Given the description of an element on the screen output the (x, y) to click on. 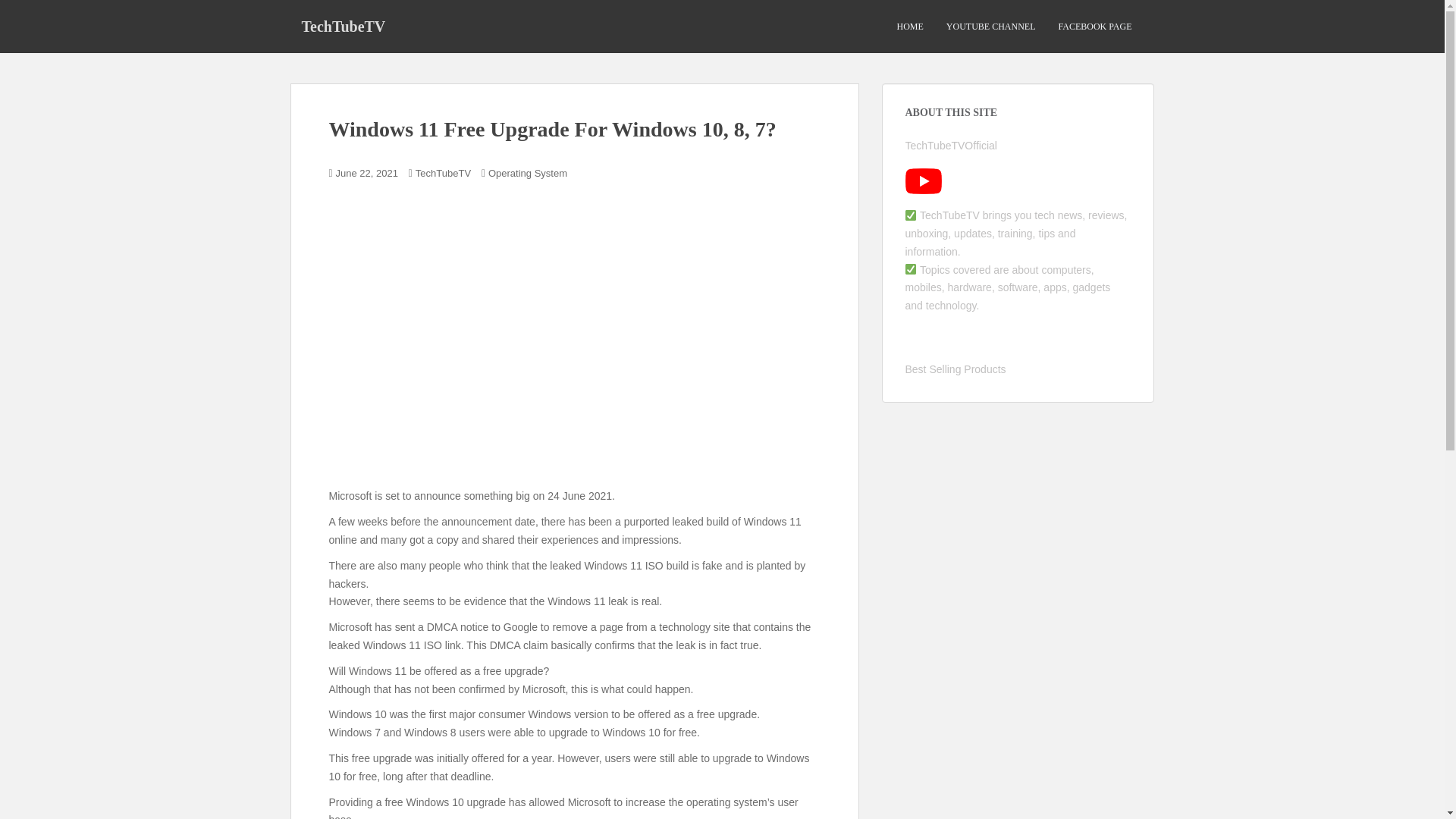
FACEBOOK PAGE (1094, 26)
Best Selling Products (955, 369)
June 22, 2021 (366, 173)
YOUTUBE CHANNEL (990, 26)
TechTubeTVOfficial (951, 145)
TechTubeTV (342, 26)
TechTubeTV (342, 26)
TechTubeTV (442, 173)
Operating System (527, 173)
